Given the description of an element on the screen output the (x, y) to click on. 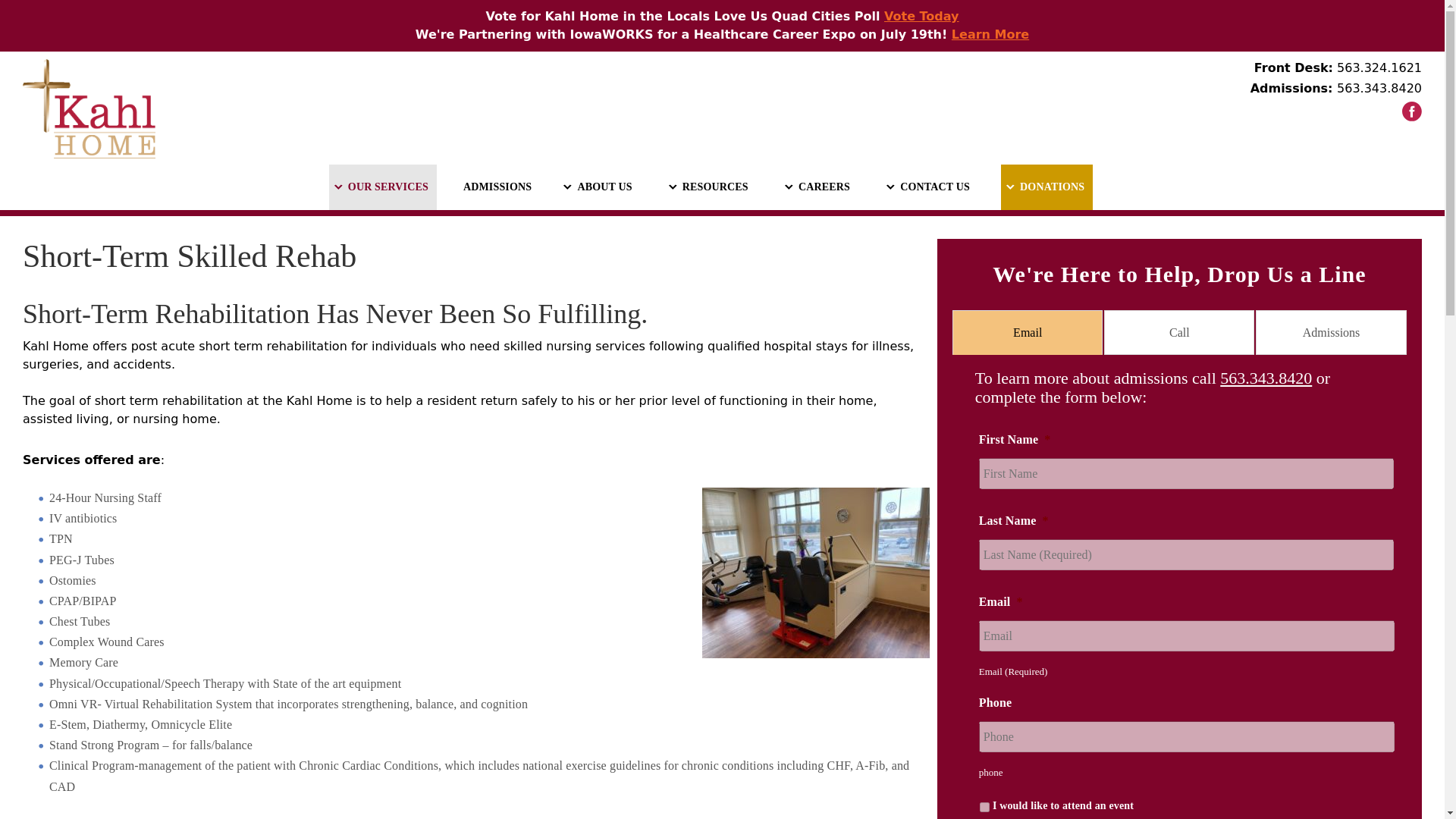
DONATIONS (1047, 186)
Kahl Home (1411, 111)
563.343.8420 (1379, 88)
Vote Today (921, 16)
ADMISSIONS (497, 186)
RESOURCES (710, 186)
ABOUT US (598, 186)
CAREERS (818, 186)
Learn More (990, 34)
OUR SERVICES (382, 186)
563.324.1621 (1379, 67)
I would like to attend an event (984, 807)
CONTACT US (929, 186)
